Given the description of an element on the screen output the (x, y) to click on. 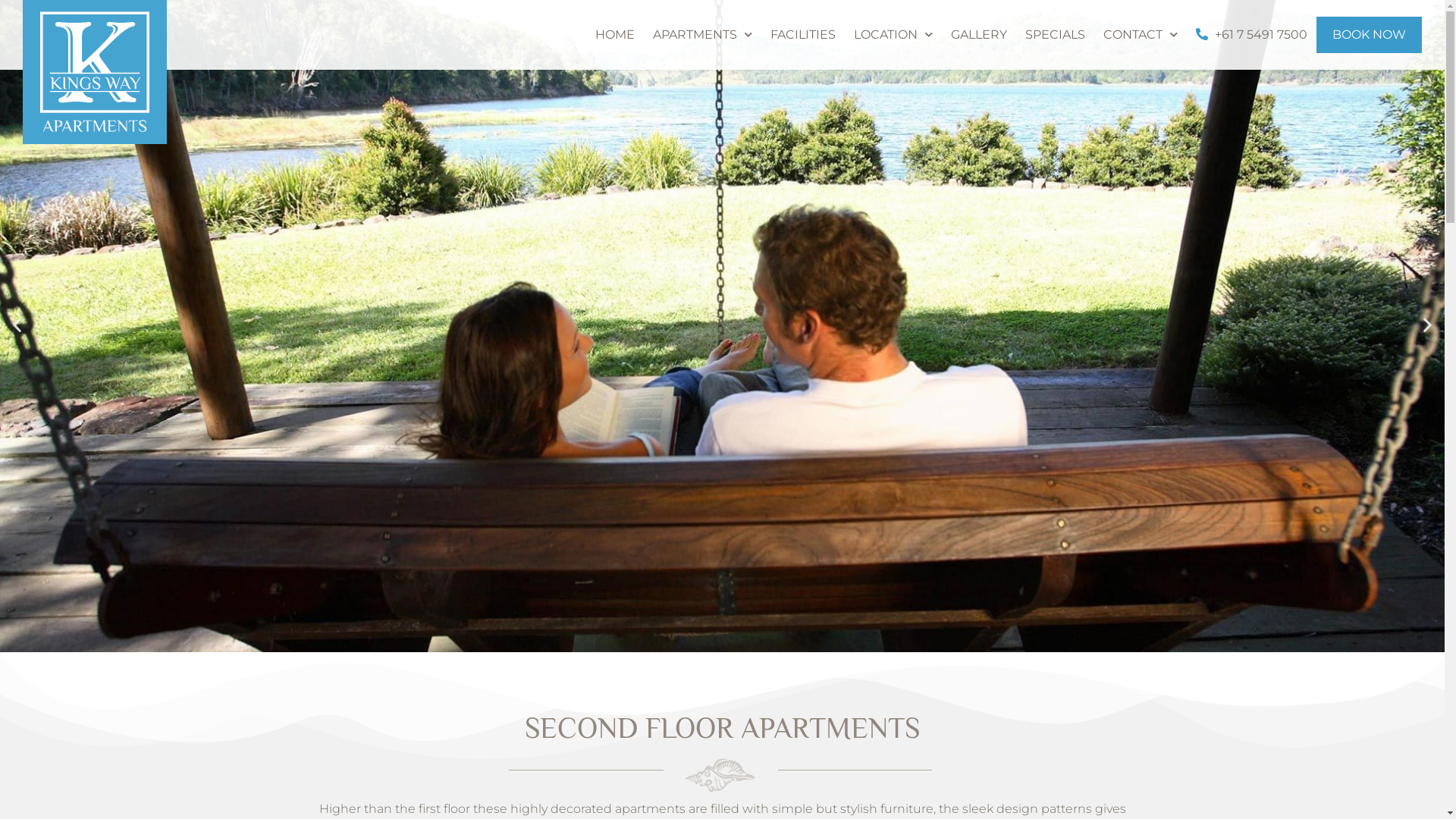
HOME Element type: text (614, 34)
GALLERY Element type: text (978, 34)
APARTMENTS Element type: text (702, 34)
+61 7 5491 7500 Element type: text (1251, 34)
CONTACT Element type: text (1140, 34)
FACILITIES Element type: text (802, 34)
LOCATION Element type: text (892, 34)
SPECIALS Element type: text (1055, 34)
BOOK NOW Element type: text (1368, 34)
